Given the description of an element on the screen output the (x, y) to click on. 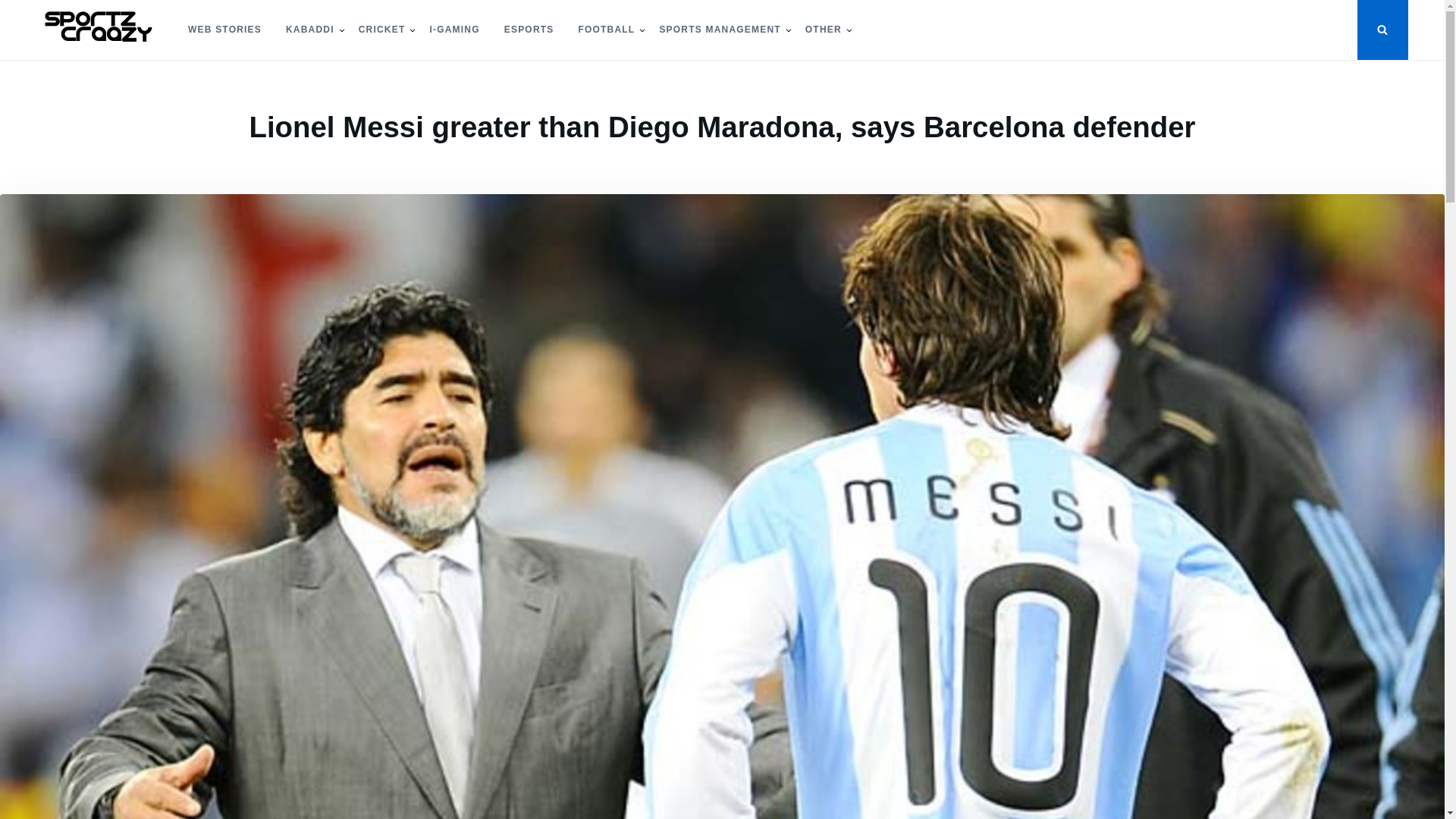
WEB STORIES (224, 29)
KABADDI (309, 29)
Sportzcraazy (92, 72)
